Given the description of an element on the screen output the (x, y) to click on. 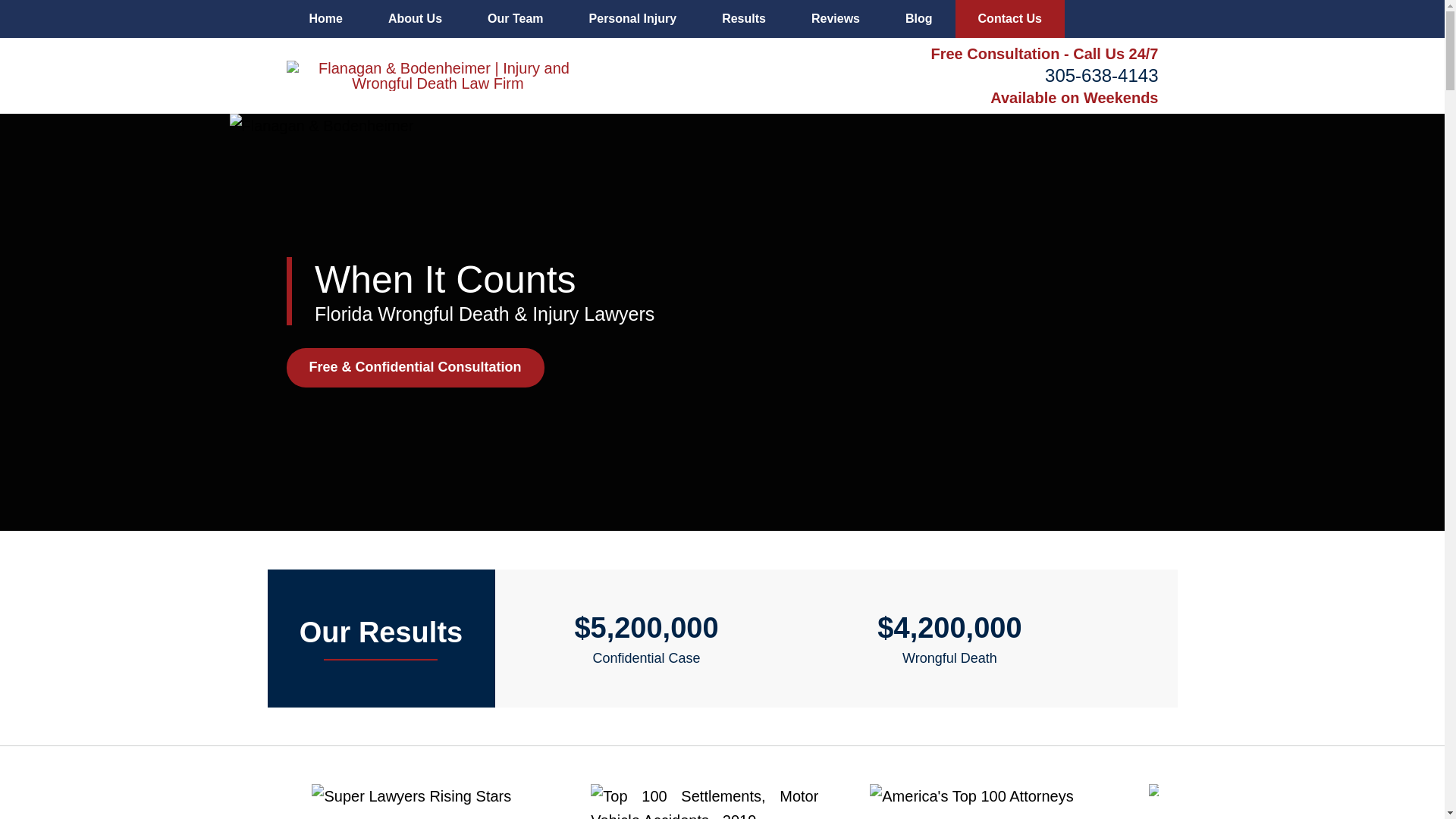
Personal Injury (633, 18)
Our Team (515, 18)
About Us (414, 18)
Home (325, 18)
Blog (918, 18)
Results (743, 18)
305-638-4143 (1101, 75)
Reviews (835, 18)
Contact Us (1009, 18)
